Given the description of an element on the screen output the (x, y) to click on. 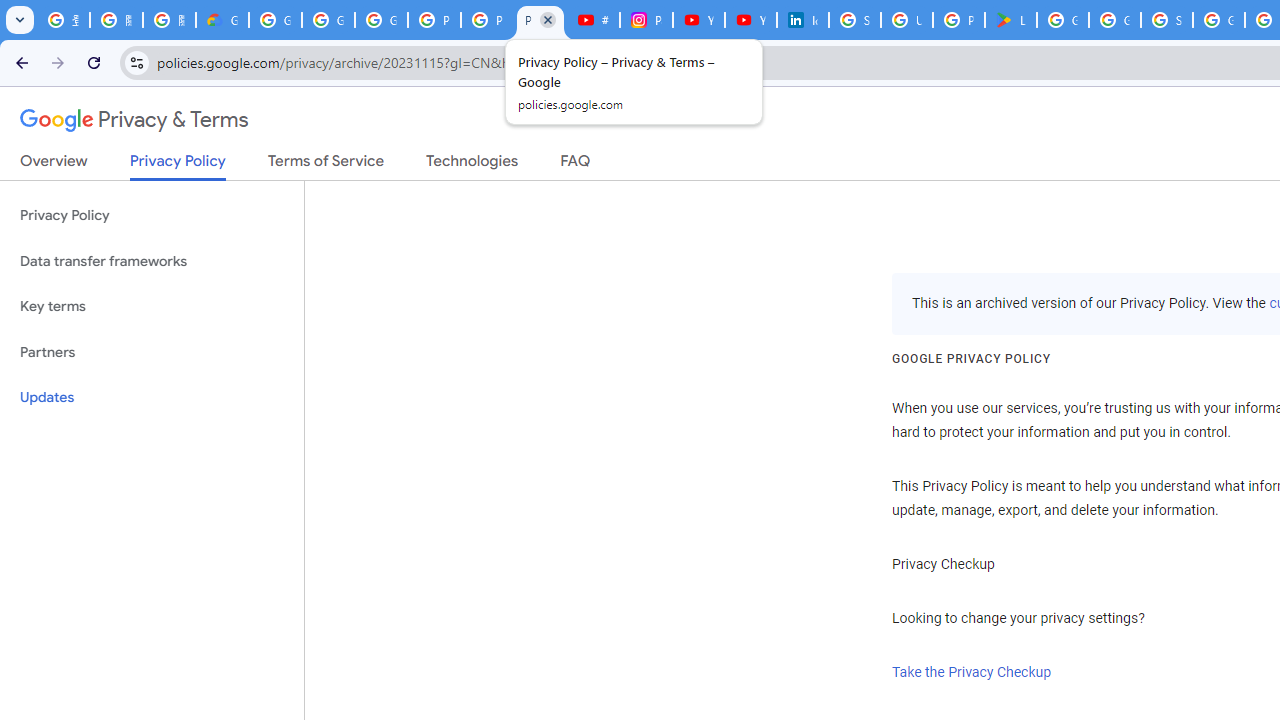
Last Shelter: Survival - Apps on Google Play (1010, 20)
